Given the description of an element on the screen output the (x, y) to click on. 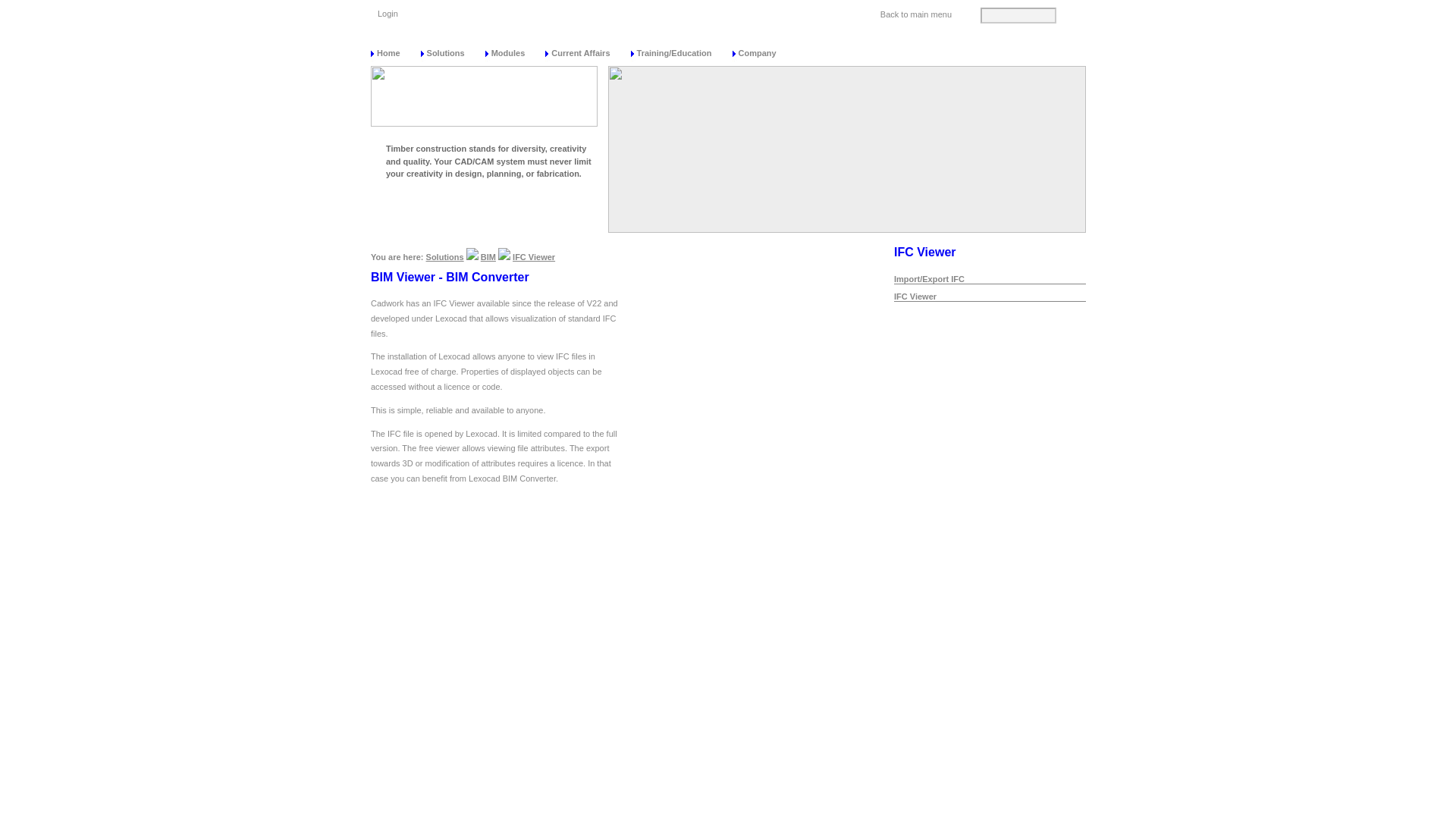
Solutions (452, 52)
Home (395, 52)
Back to main menu (917, 9)
Login (390, 9)
